Given the description of an element on the screen output the (x, y) to click on. 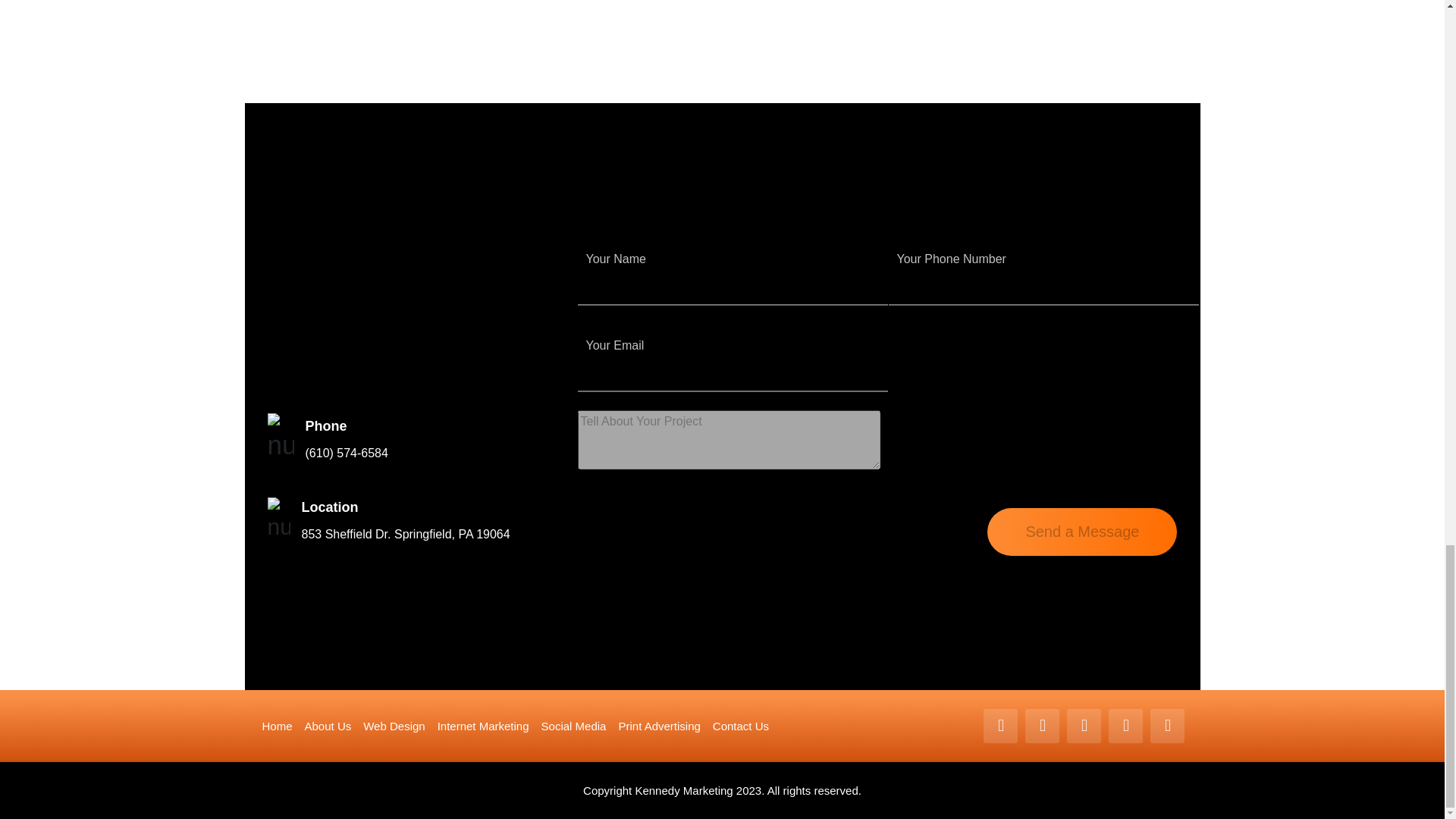
Social Media (574, 725)
Home (277, 725)
About Us (328, 725)
Contact Us (740, 725)
Print Advertising (658, 725)
Send a Message (1081, 531)
Internet Marketing (483, 725)
Web Design (393, 725)
Send a Message (1081, 531)
